Given the description of an element on the screen output the (x, y) to click on. 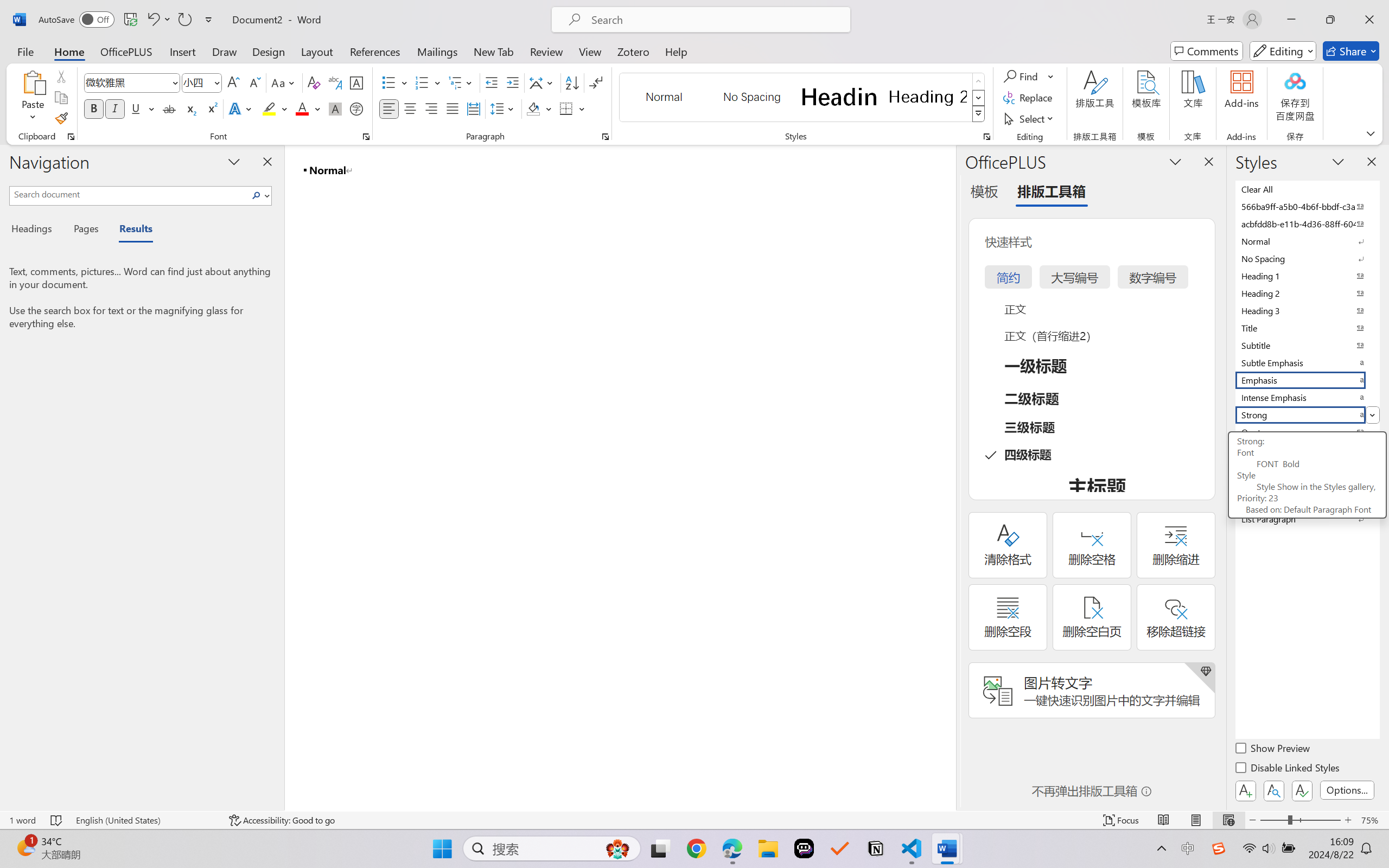
Print Layout (1196, 819)
Headings (35, 229)
